Given the description of an element on the screen output the (x, y) to click on. 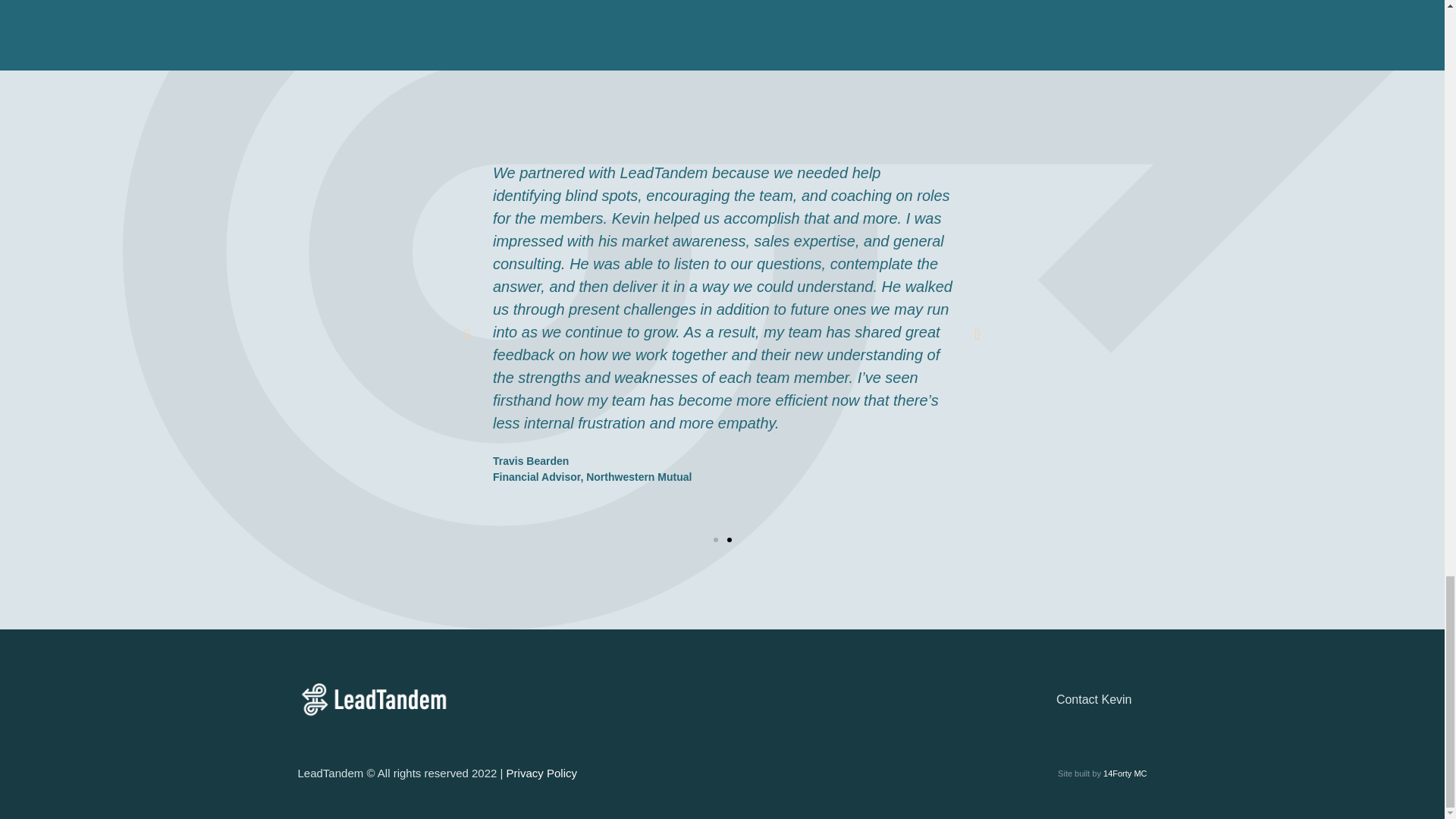
14Forty MC (1125, 773)
Privacy Policy (541, 772)
Contact Kevin (938, 699)
